Given the description of an element on the screen output the (x, y) to click on. 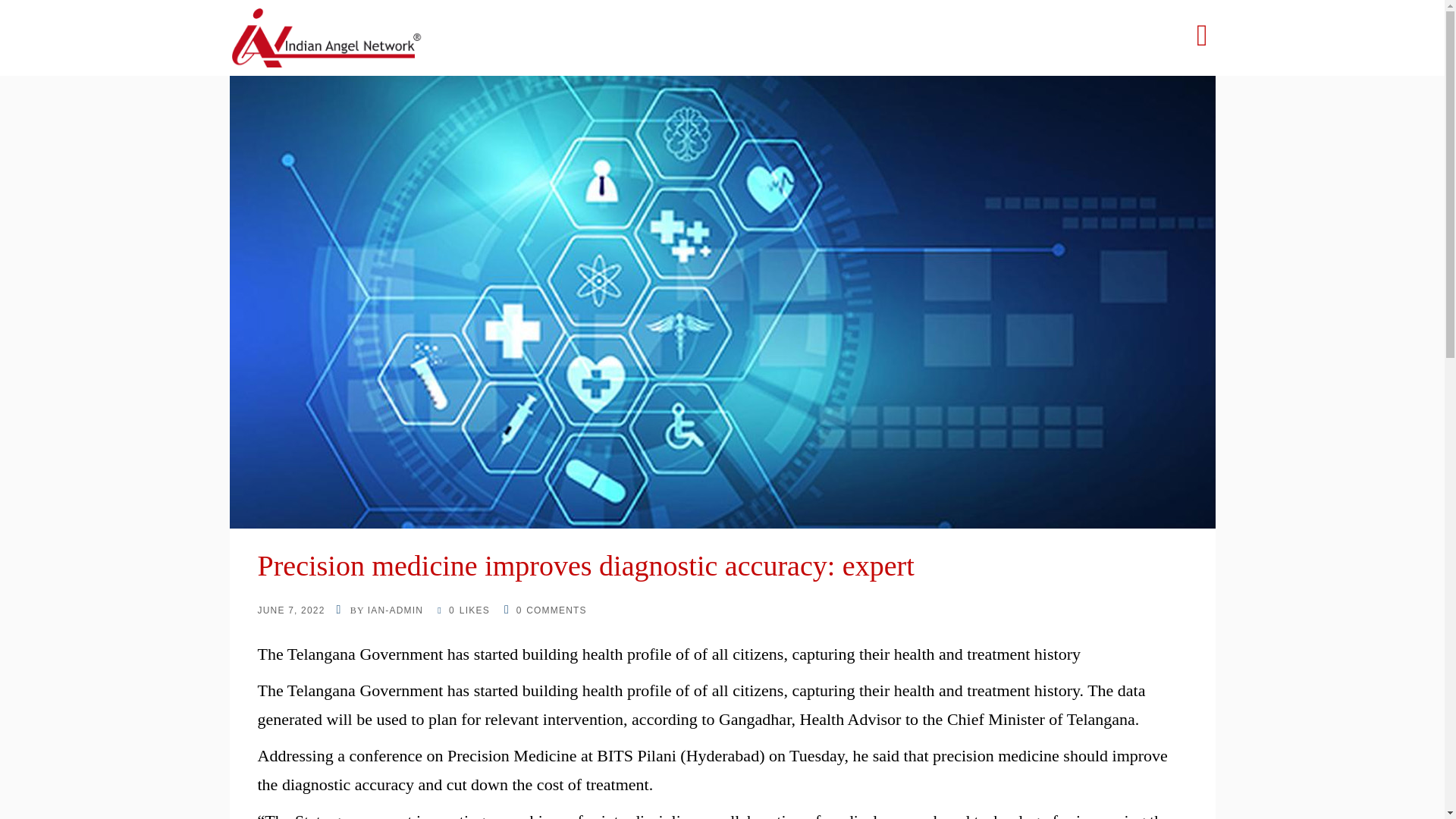
Like this (463, 610)
